Given the description of an element on the screen output the (x, y) to click on. 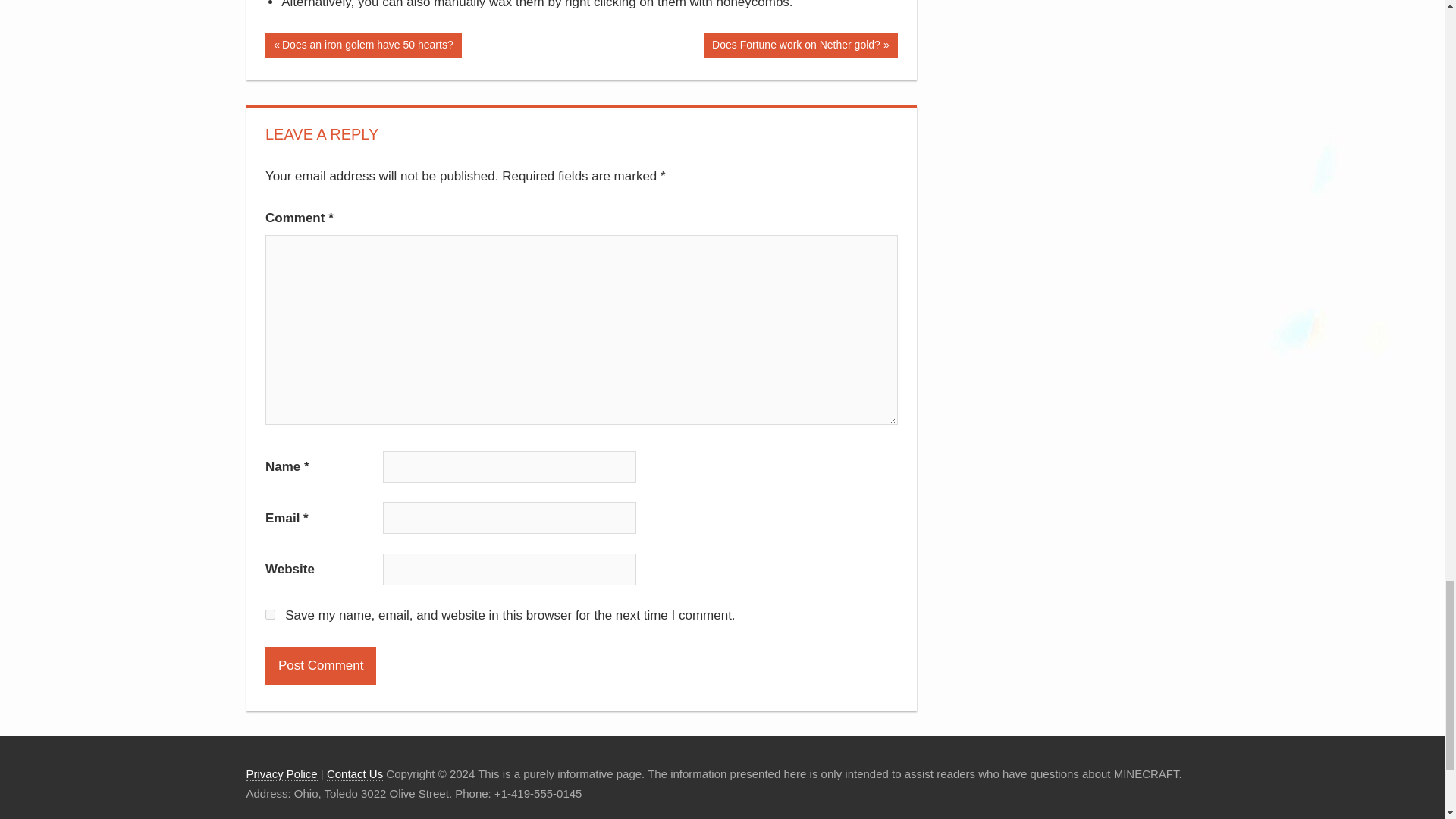
yes (269, 614)
Post Comment (362, 44)
Post Comment (319, 665)
